Given the description of an element on the screen output the (x, y) to click on. 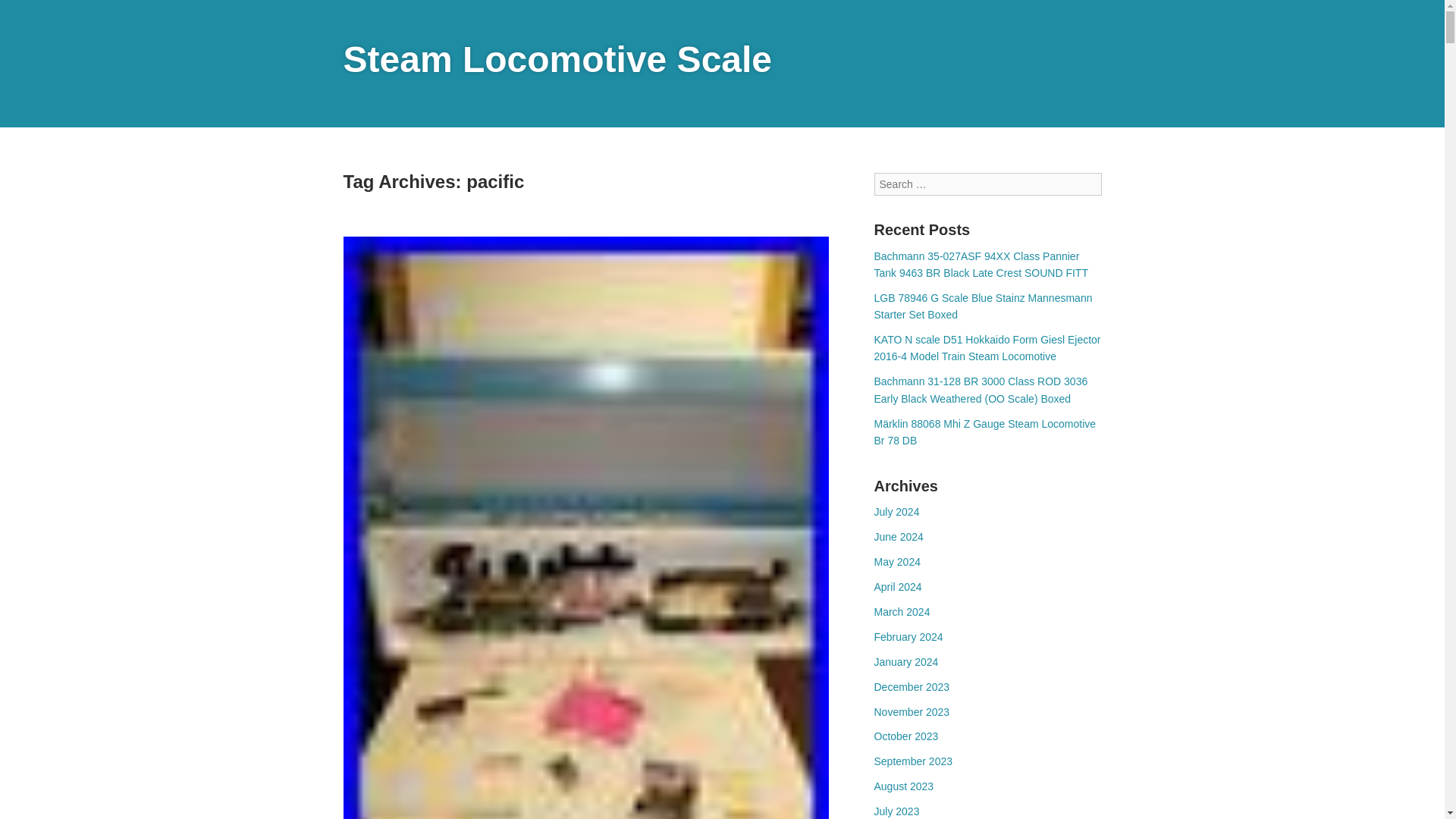
Steam Locomotive Scale (556, 59)
Steam Locomotive Scale (556, 59)
